Given the description of an element on the screen output the (x, y) to click on. 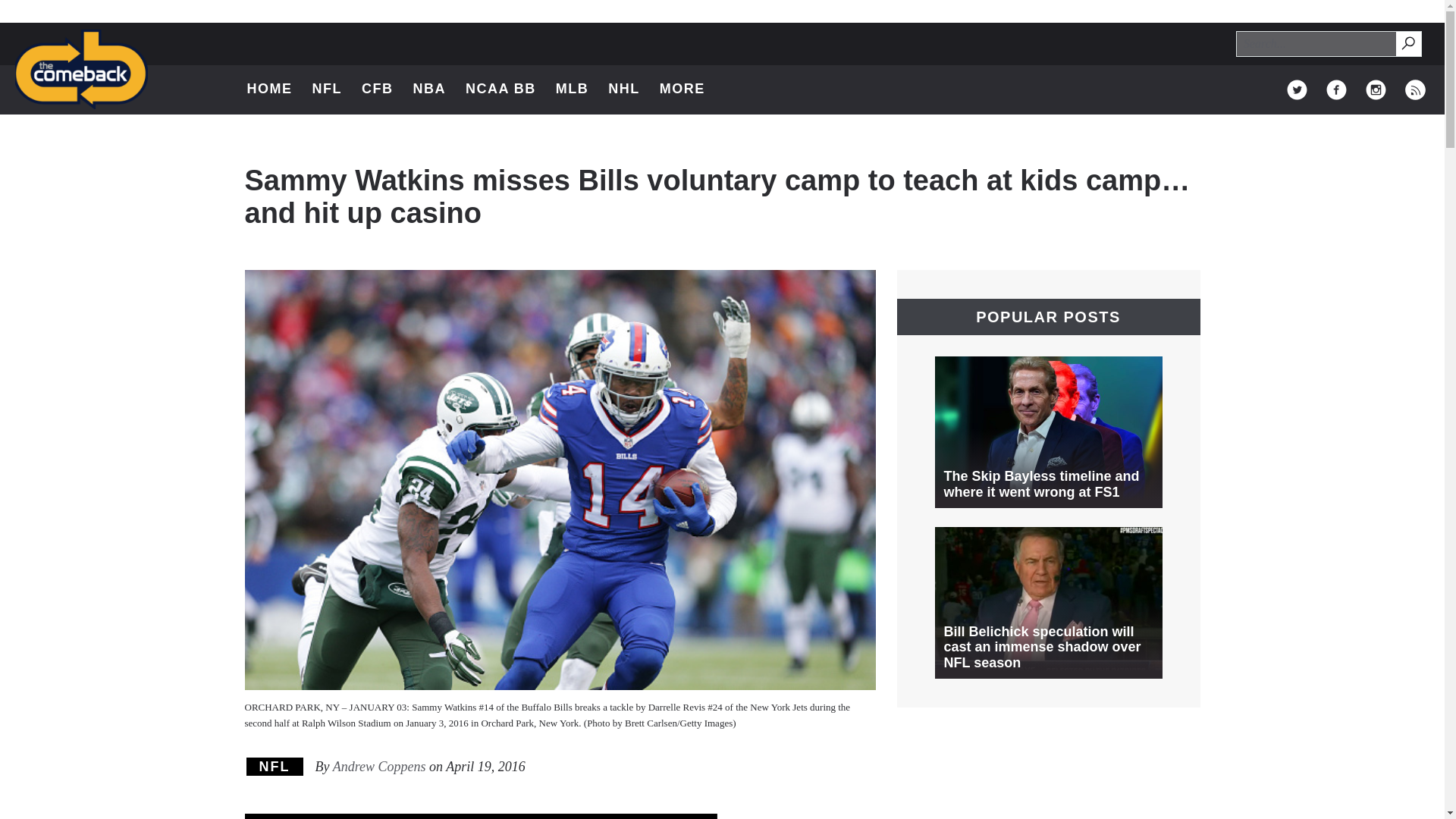
MORE (1414, 89)
NHL (689, 89)
NFL (624, 89)
CFB (274, 765)
Link to Twitter (376, 89)
HOME (1296, 89)
SEARCH (269, 89)
View all posts in NFL (1407, 42)
